Given the description of an element on the screen output the (x, y) to click on. 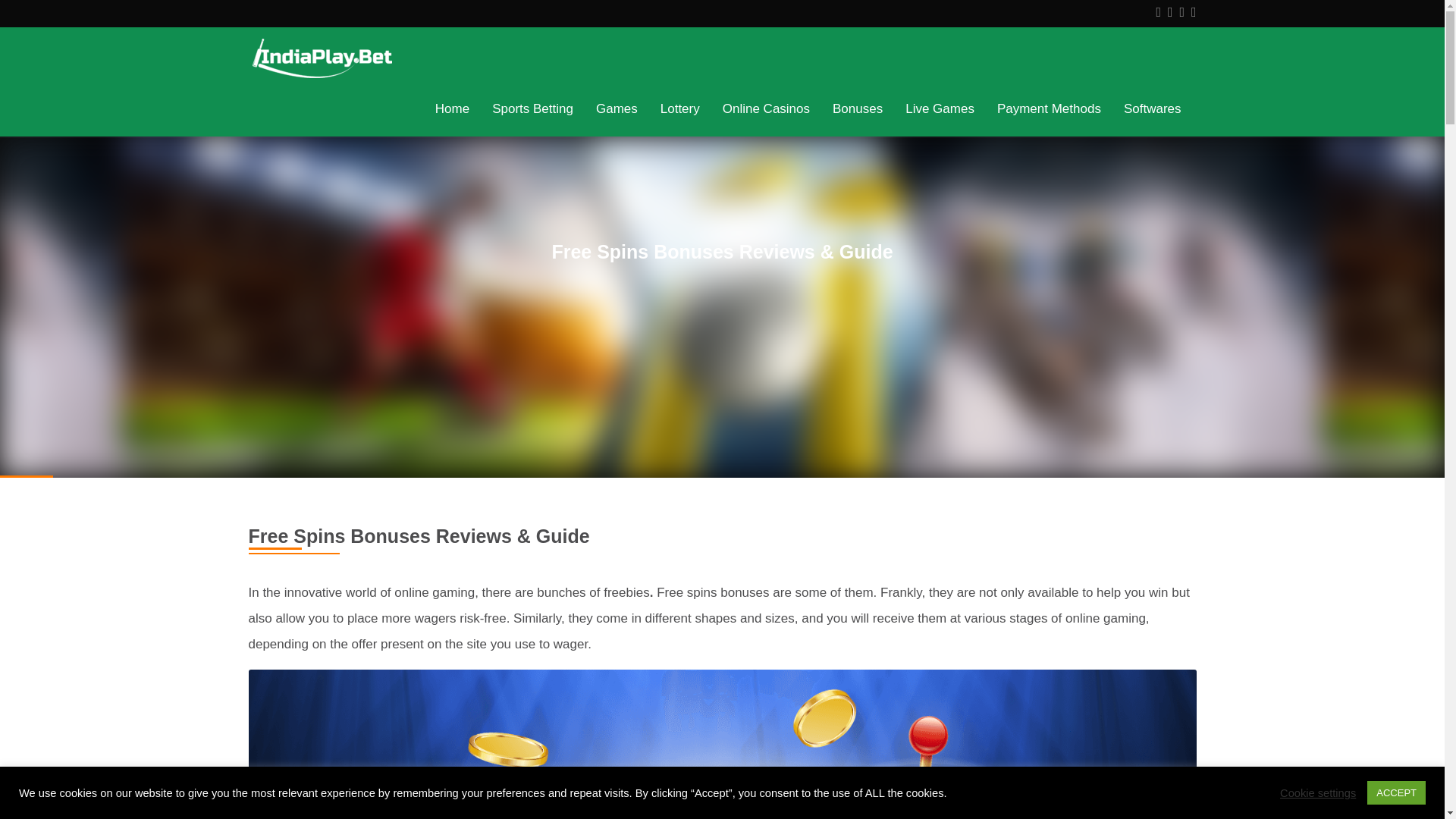
Sports Betting (532, 107)
Games (617, 107)
Home (451, 107)
